Given the description of an element on the screen output the (x, y) to click on. 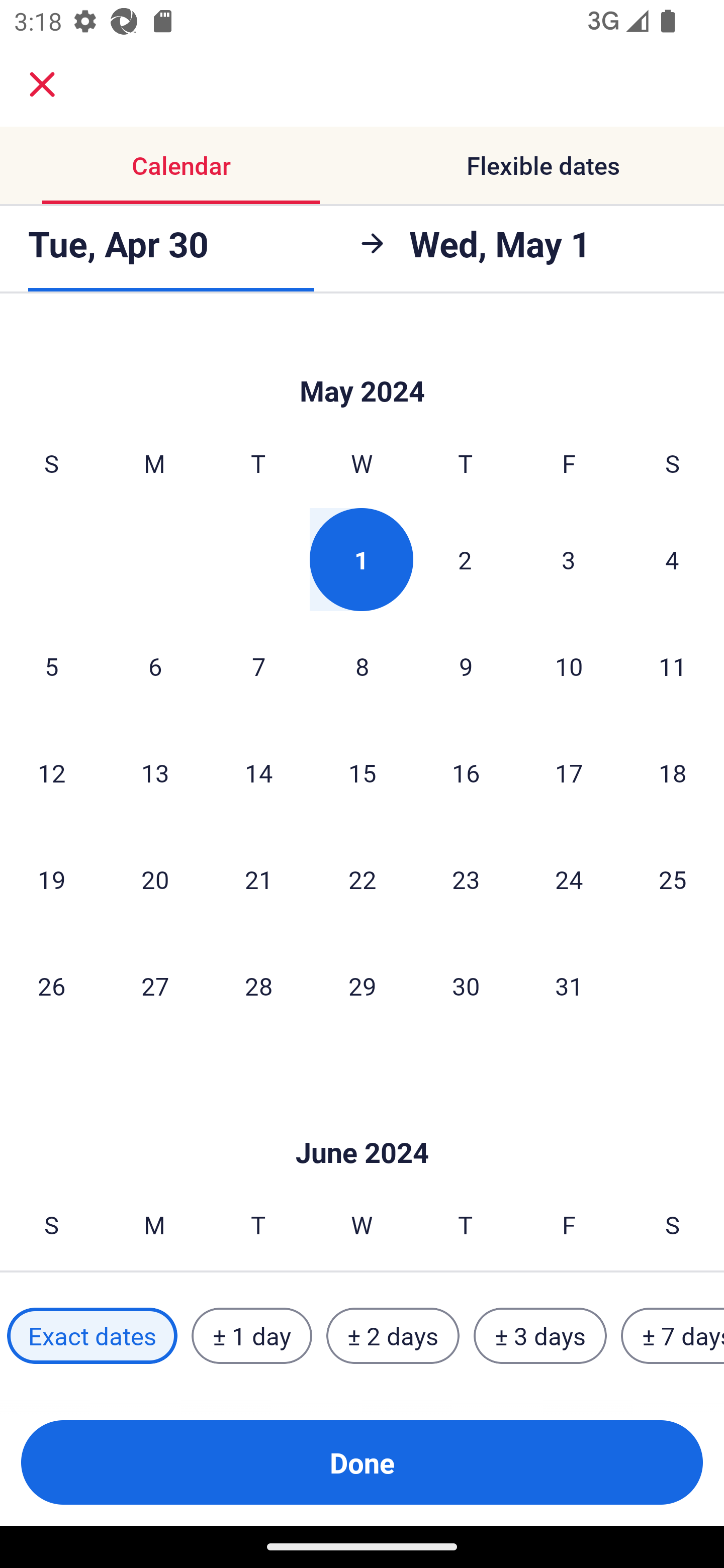
close. (42, 84)
Flexible dates (542, 164)
Skip to Done (362, 361)
2 Thursday, May 2, 2024 (464, 559)
3 Friday, May 3, 2024 (568, 559)
4 Saturday, May 4, 2024 (672, 559)
5 Sunday, May 5, 2024 (51, 666)
6 Monday, May 6, 2024 (155, 666)
7 Tuesday, May 7, 2024 (258, 666)
8 Wednesday, May 8, 2024 (362, 666)
9 Thursday, May 9, 2024 (465, 666)
10 Friday, May 10, 2024 (569, 666)
11 Saturday, May 11, 2024 (672, 666)
12 Sunday, May 12, 2024 (51, 772)
13 Monday, May 13, 2024 (155, 772)
14 Tuesday, May 14, 2024 (258, 772)
15 Wednesday, May 15, 2024 (362, 772)
16 Thursday, May 16, 2024 (465, 772)
17 Friday, May 17, 2024 (569, 772)
18 Saturday, May 18, 2024 (672, 772)
19 Sunday, May 19, 2024 (51, 879)
20 Monday, May 20, 2024 (155, 879)
21 Tuesday, May 21, 2024 (258, 879)
22 Wednesday, May 22, 2024 (362, 879)
23 Thursday, May 23, 2024 (465, 879)
24 Friday, May 24, 2024 (569, 879)
25 Saturday, May 25, 2024 (672, 879)
26 Sunday, May 26, 2024 (51, 986)
27 Monday, May 27, 2024 (155, 986)
28 Tuesday, May 28, 2024 (258, 986)
29 Wednesday, May 29, 2024 (362, 986)
30 Thursday, May 30, 2024 (465, 986)
31 Friday, May 31, 2024 (569, 986)
Skip to Done (362, 1122)
Exact dates (92, 1335)
± 1 day (251, 1335)
± 2 days (392, 1335)
± 3 days (539, 1335)
± 7 days (672, 1335)
Done (361, 1462)
